Given the description of an element on the screen output the (x, y) to click on. 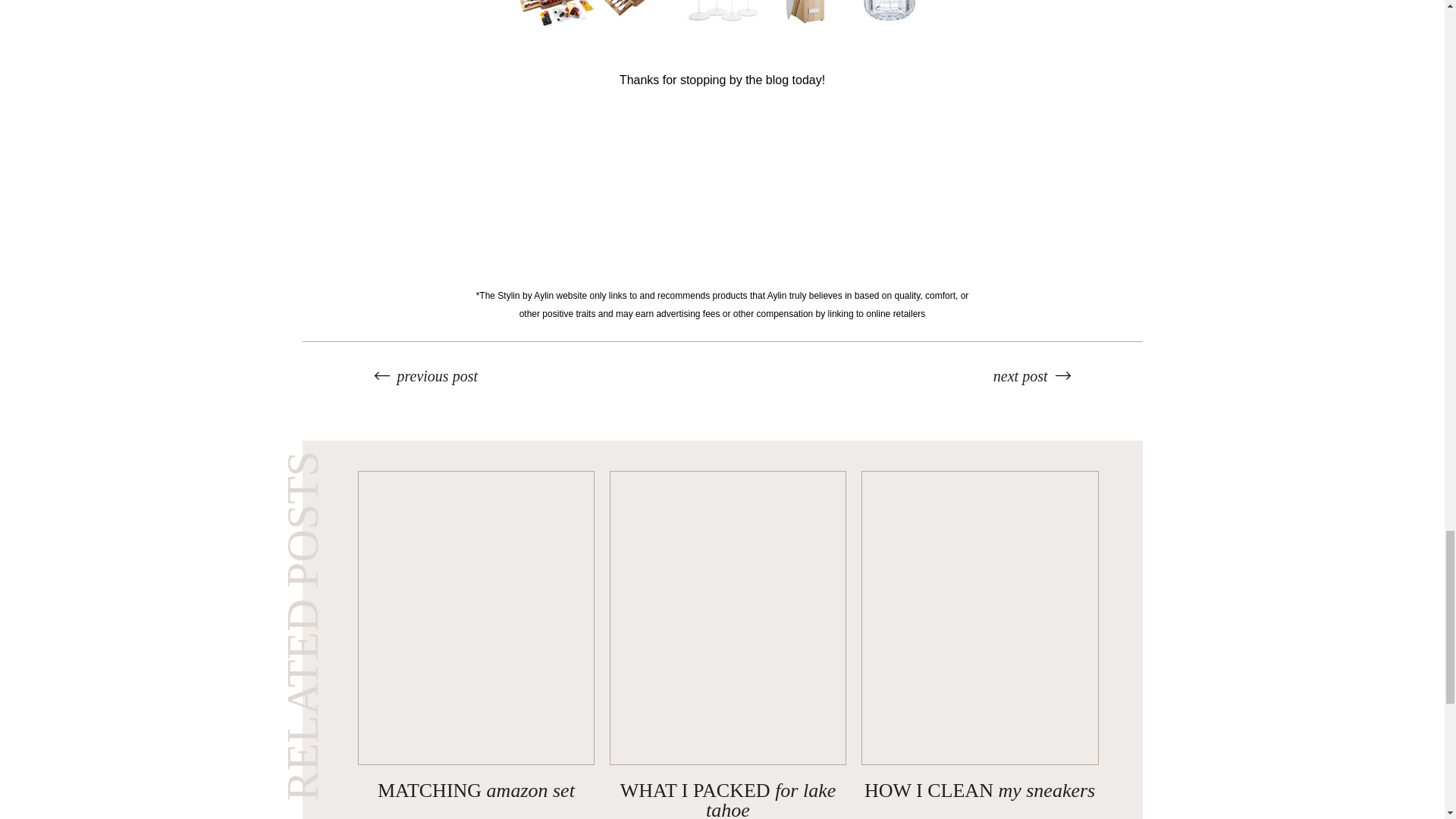
WHAT I PAXKED for lake tahoe (727, 799)
Matching amazon set (476, 790)
HOW I CLEAN my sneakers (979, 790)
